Given the description of an element on the screen output the (x, y) to click on. 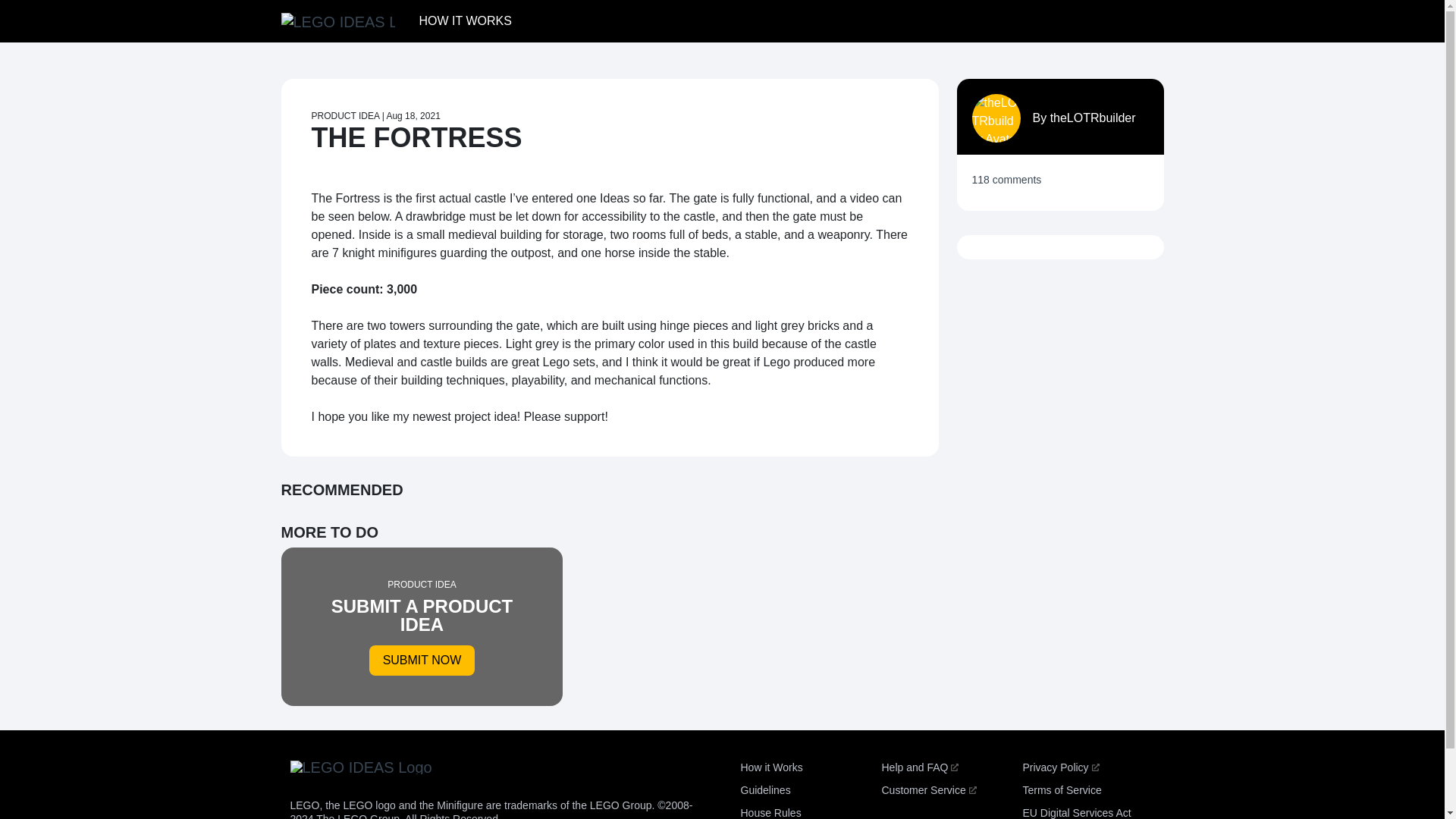
Privacy Policy (1060, 767)
EU Digital Services Act Notice (1076, 812)
Customer Service (927, 789)
How it Works (421, 626)
2021-08-18T14:42:22.862628Z (770, 767)
Terms of Service (412, 115)
How It Works (1061, 789)
HOW IT WORKS (464, 20)
theLOTRbuilder (464, 20)
